Given the description of an element on the screen output the (x, y) to click on. 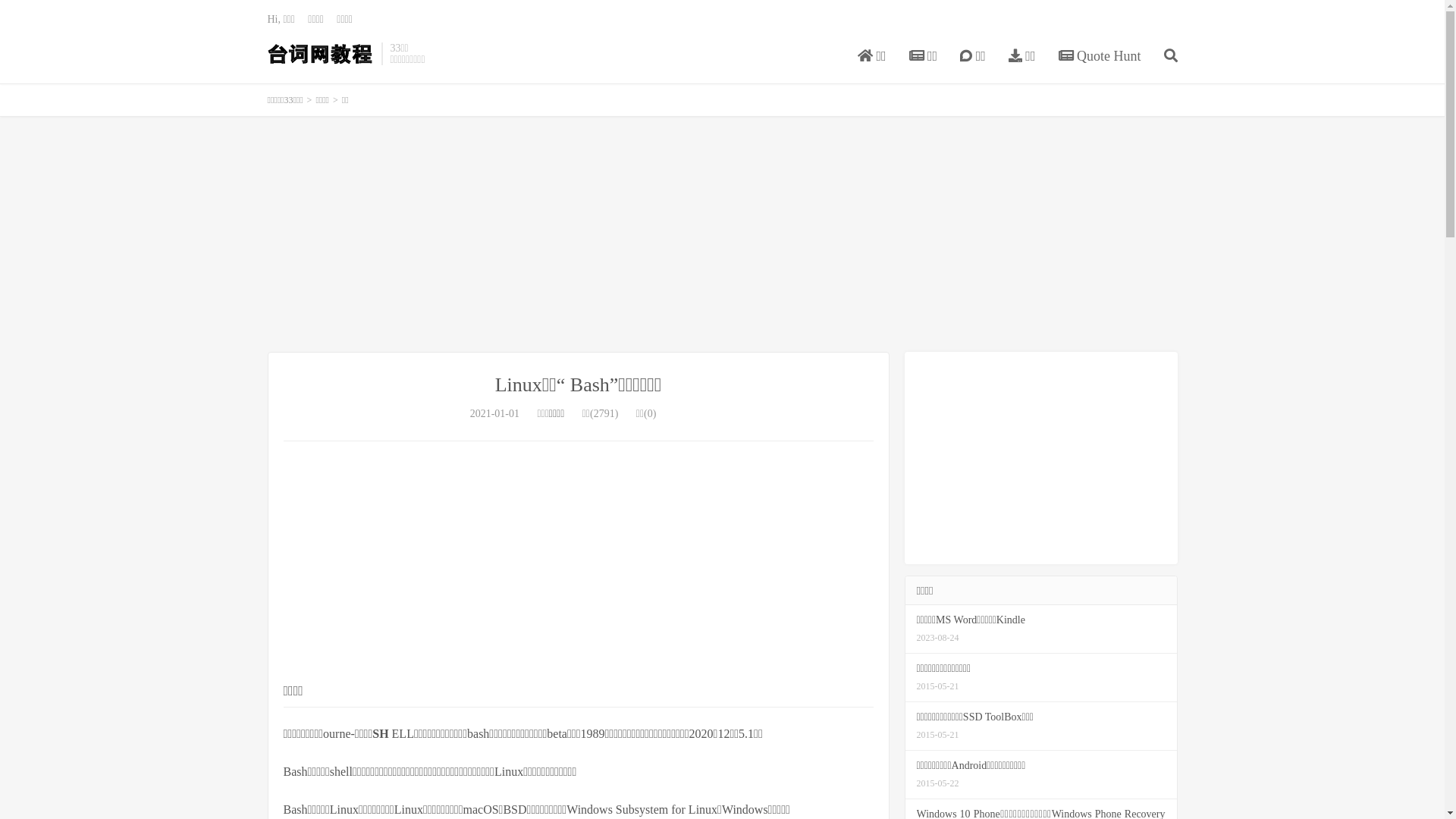
Quote Hunt Element type: text (1099, 56)
Advertisement Element type: hover (721, 234)
Advertisement Element type: hover (578, 562)
Advertisement Element type: hover (1039, 457)
